Given the description of an element on the screen output the (x, y) to click on. 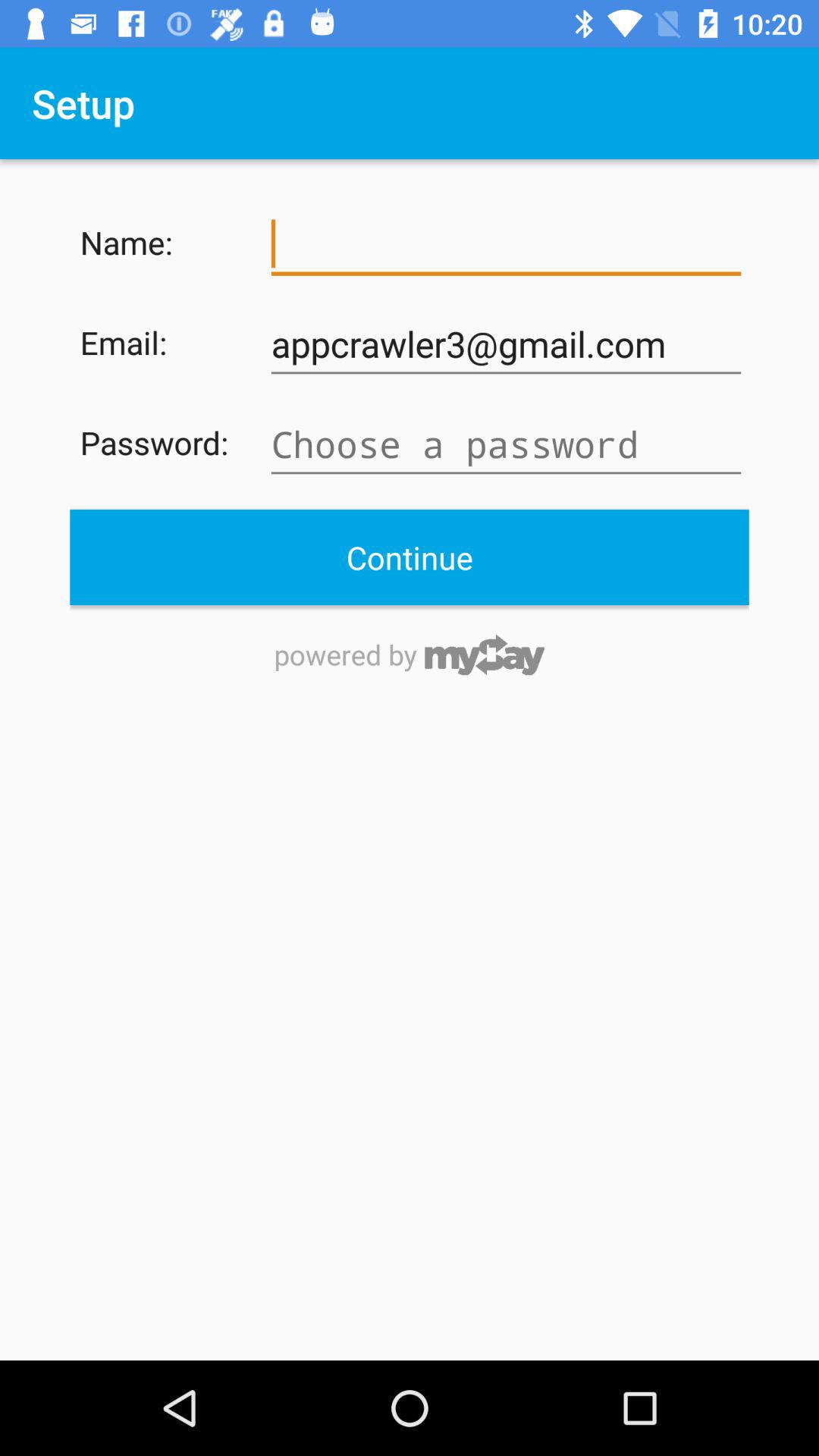
tap the icon to the right of name: item (506, 244)
